Given the description of an element on the screen output the (x, y) to click on. 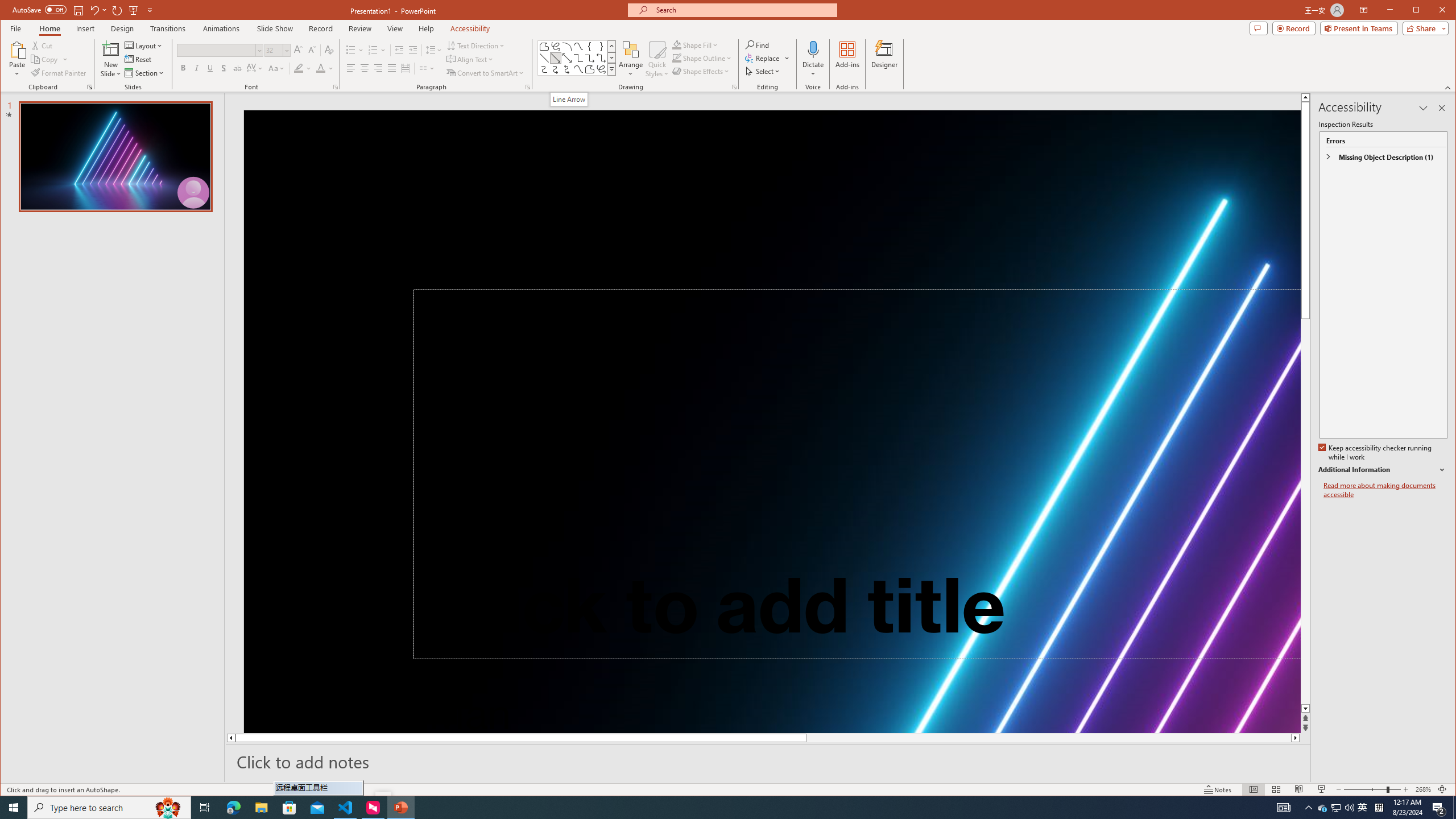
Line Arrow: Double (567, 57)
